Given the description of an element on the screen output the (x, y) to click on. 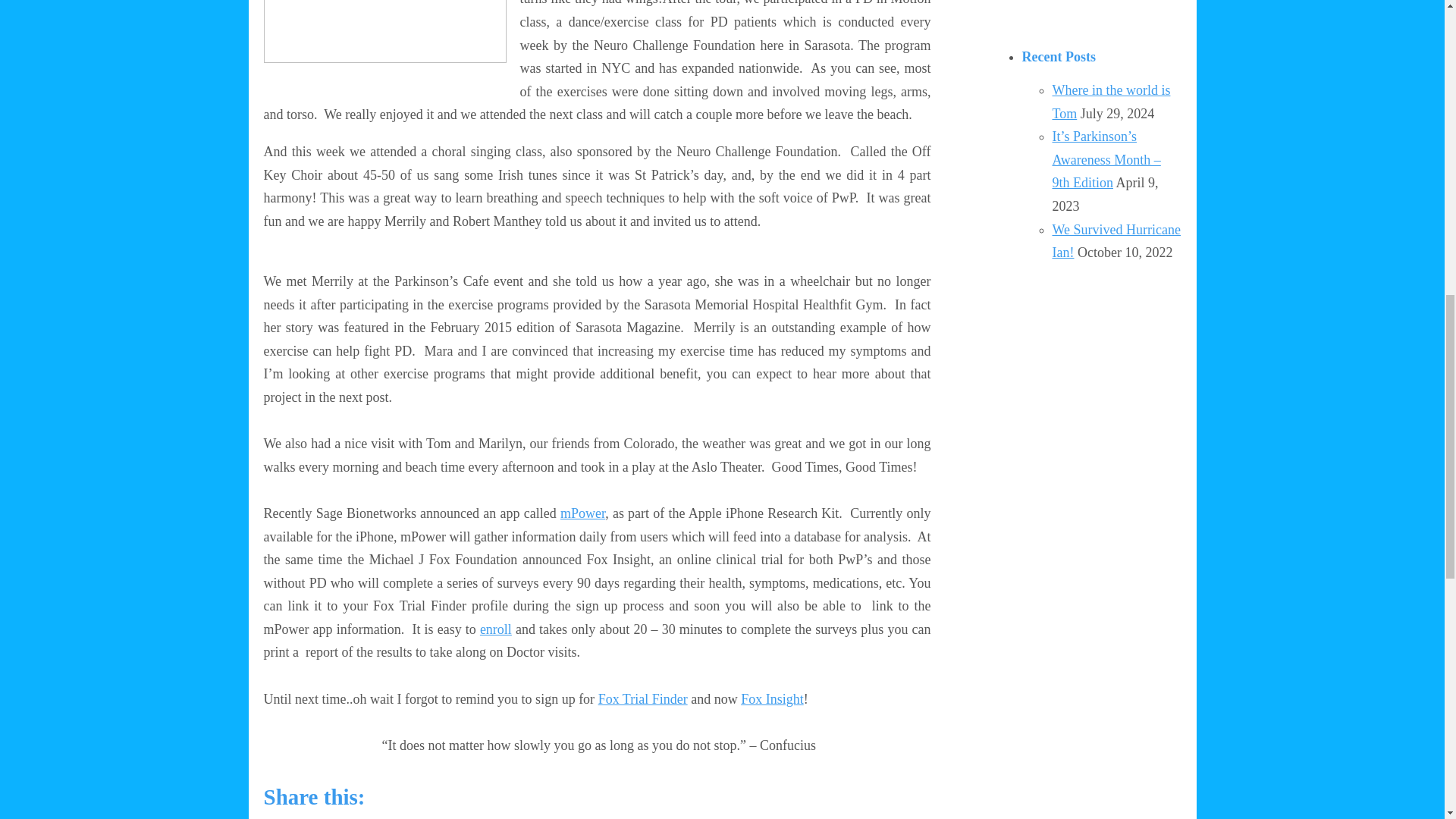
Where in the world is Tom (1111, 101)
We Survived Hurricane Ian! (1116, 241)
mPower (582, 513)
enroll (496, 629)
Fox Trial Finder (642, 698)
Fox Insight (772, 698)
